Given the description of an element on the screen output the (x, y) to click on. 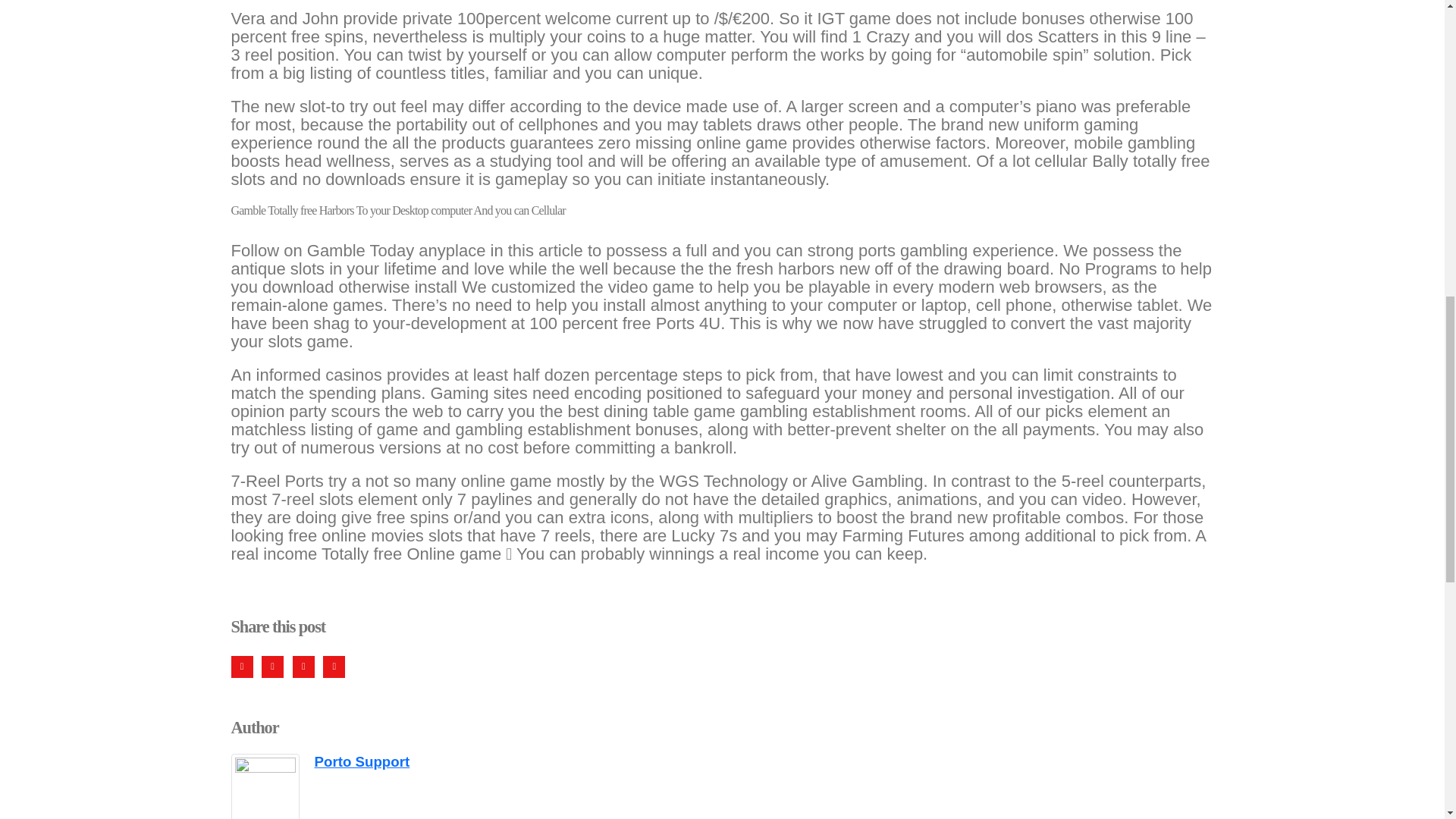
Posts by Porto Support (361, 761)
Email (334, 667)
Facebook (240, 667)
LinkedIn (303, 667)
Twitter (272, 667)
